Given the description of an element on the screen output the (x, y) to click on. 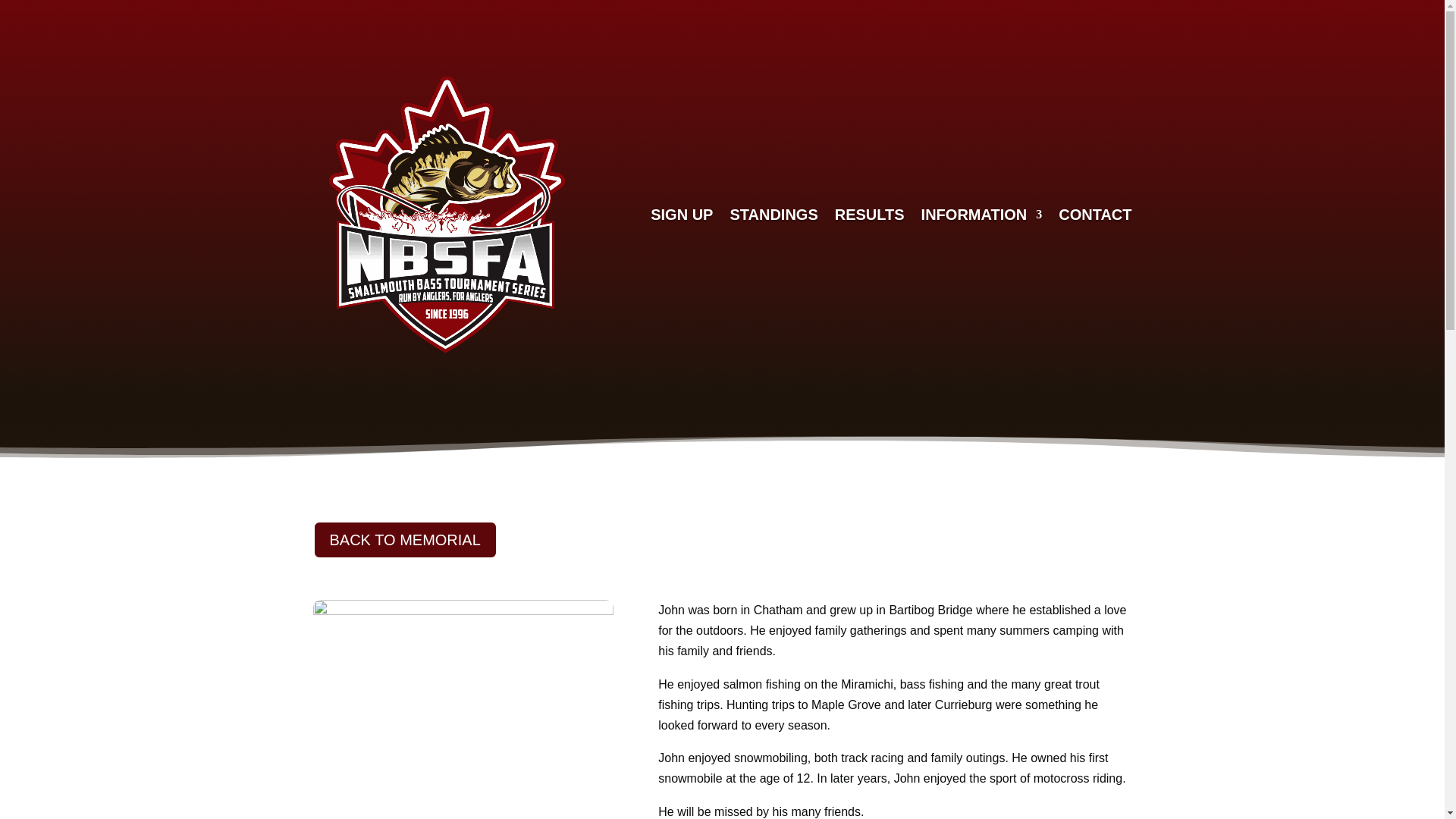
CONTACT (1094, 214)
INFORMATION (981, 214)
John-Russell (462, 709)
SIGN UP (681, 214)
BACK TO MEMORIAL (404, 539)
RESULTS (869, 214)
STANDINGS (772, 214)
